Given the description of an element on the screen output the (x, y) to click on. 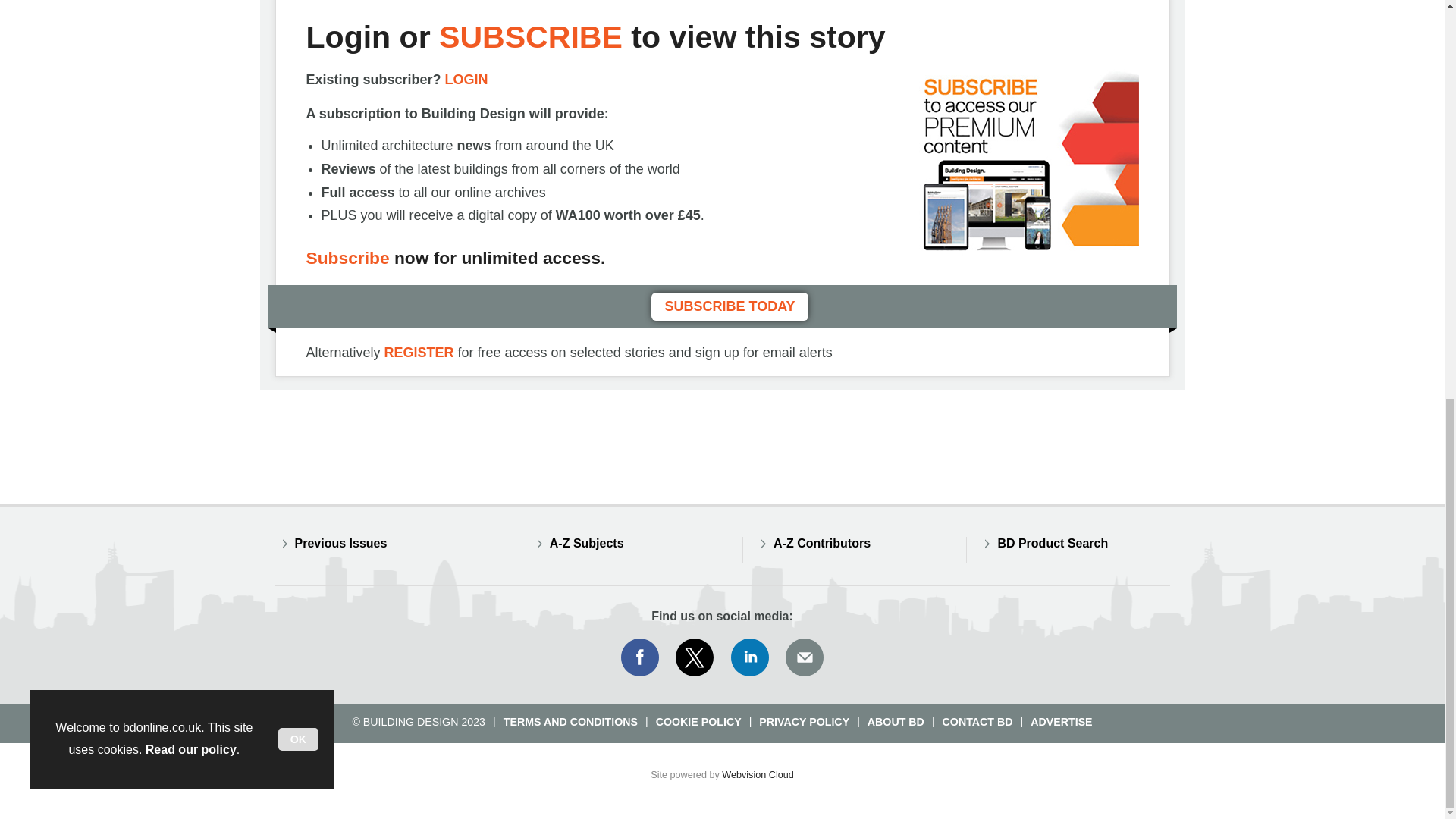
Connect with us on Twitter (694, 657)
Connect with us on Linked in (750, 657)
Email us (804, 657)
Connect with us on Facebook (639, 657)
